Given the description of an element on the screen output the (x, y) to click on. 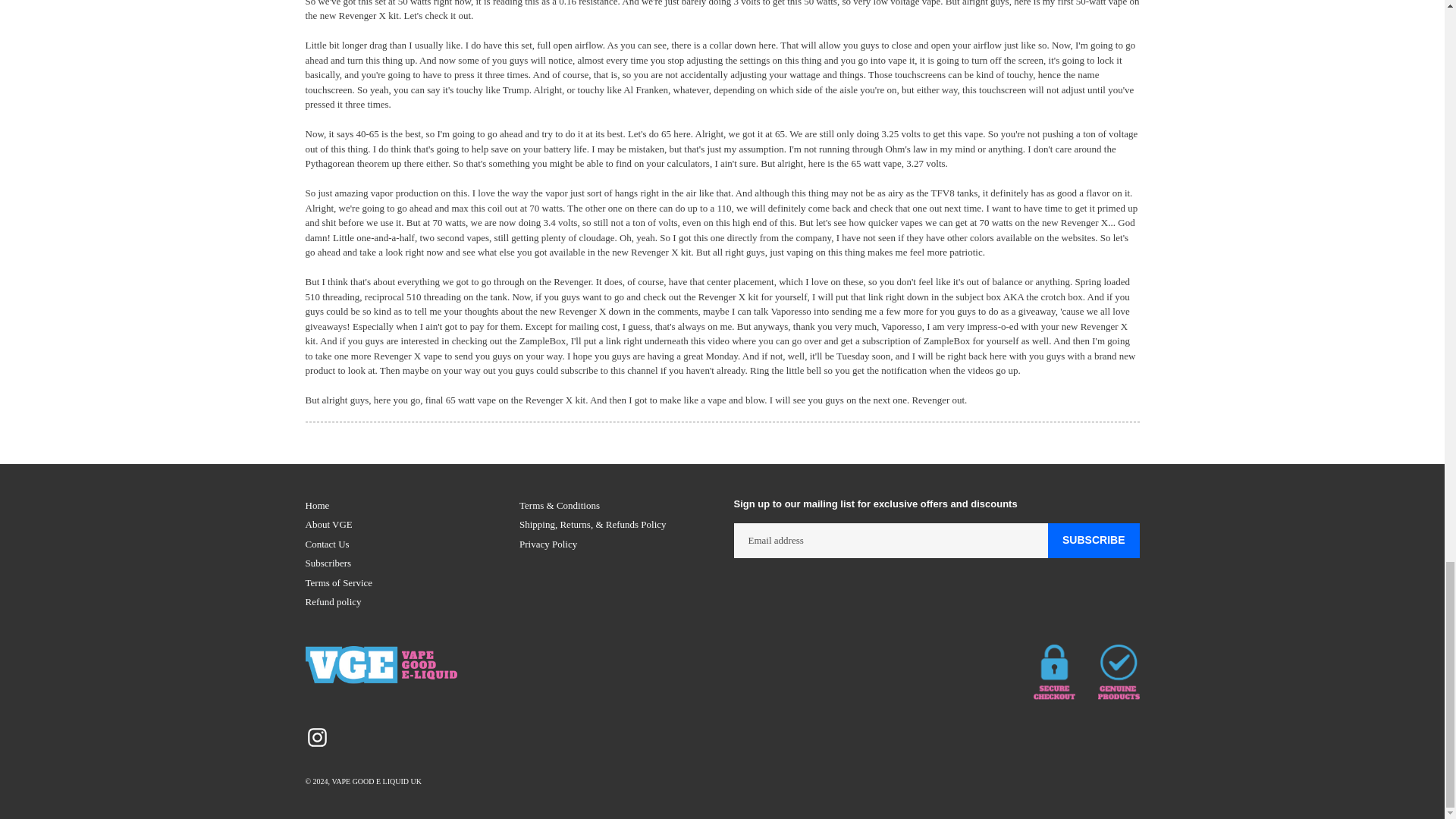
VAPE GOOD E LIQUID UK on Instagram (316, 737)
